Given the description of an element on the screen output the (x, y) to click on. 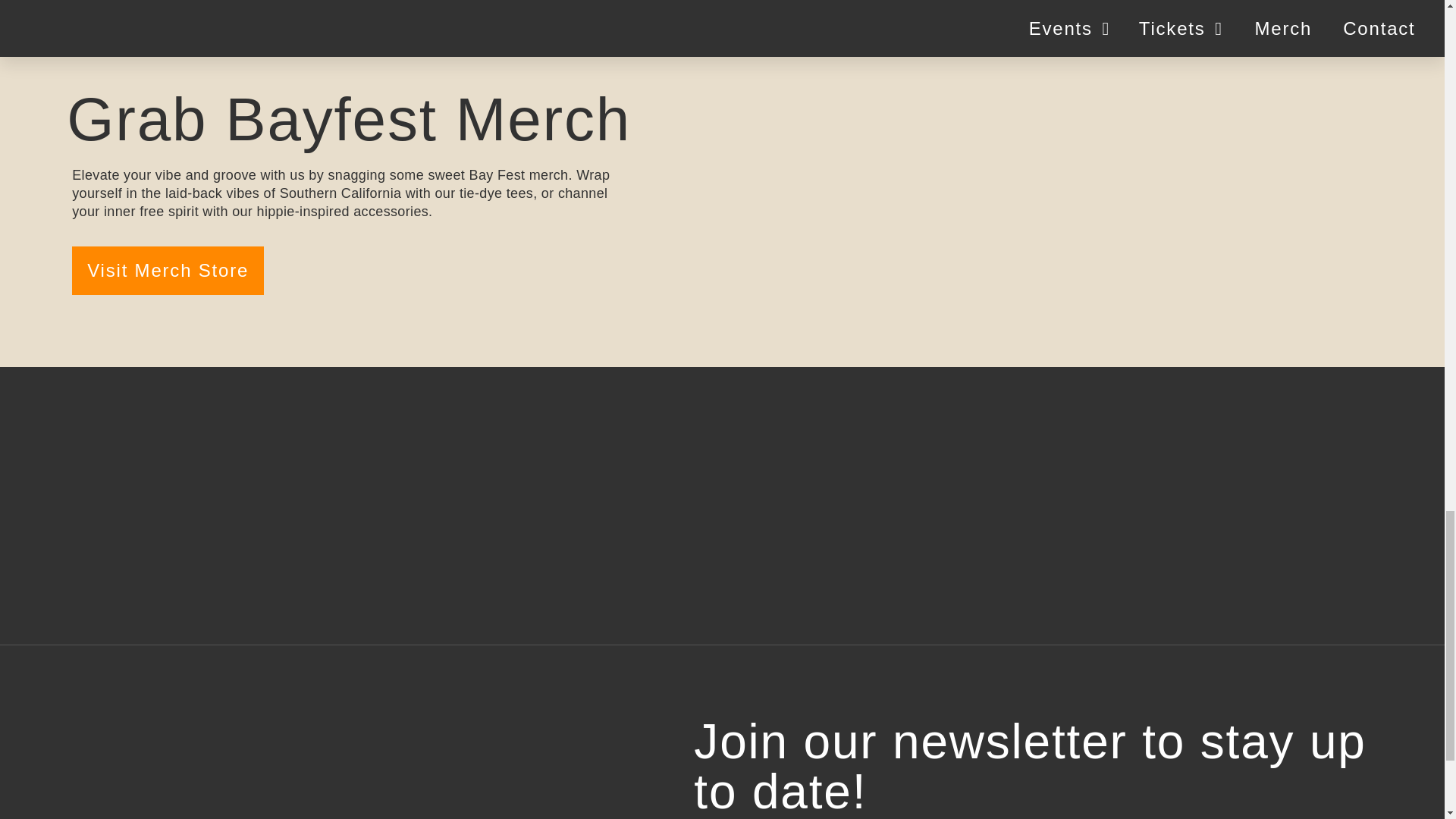
Visit Merch Store (167, 270)
